Given the description of an element on the screen output the (x, y) to click on. 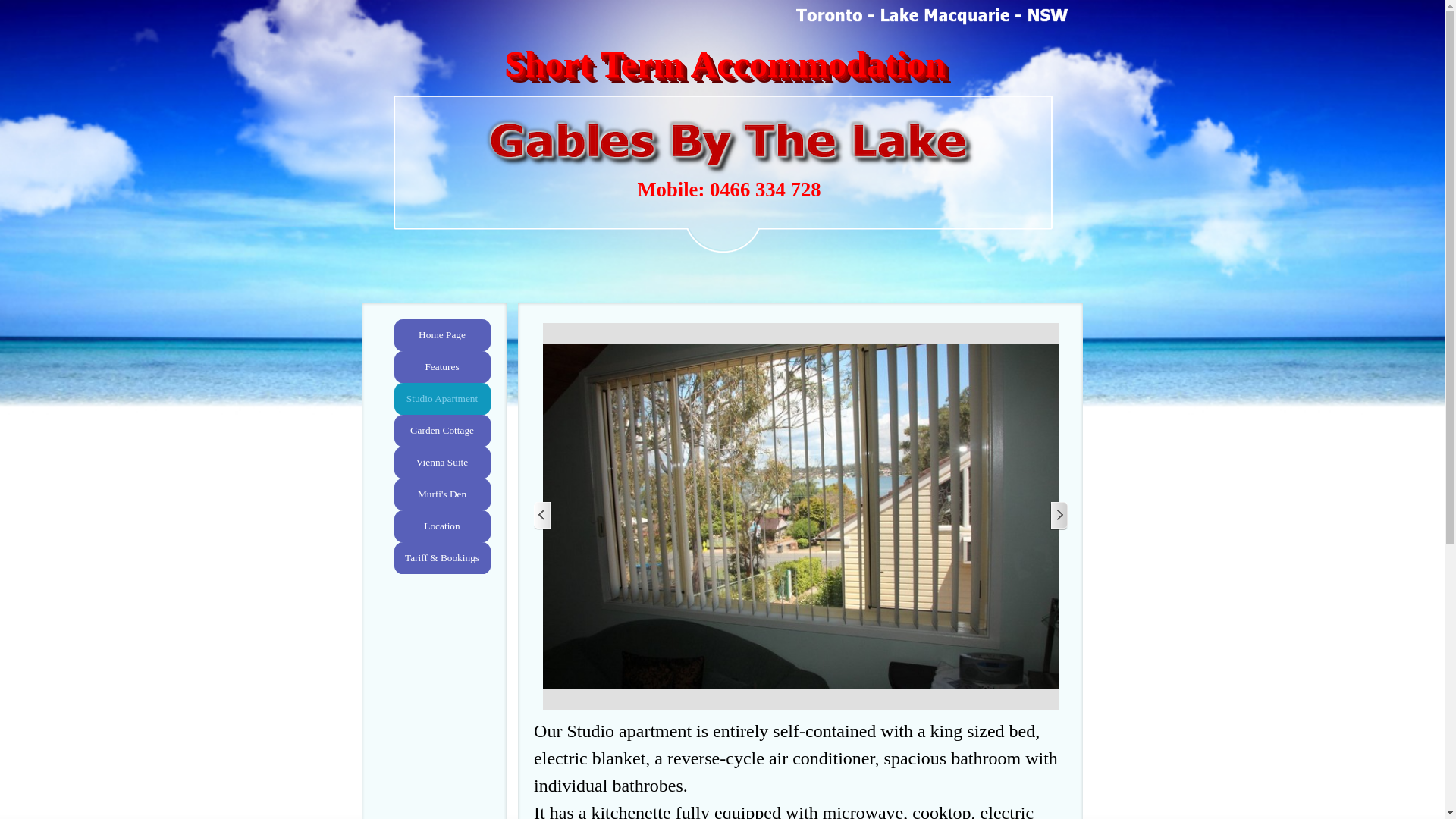
Murfi's Den Element type: text (441, 494)
Tariff & Bookings Element type: text (441, 558)
Home Page Element type: text (441, 335)
Vienna Suite Element type: text (441, 462)
Location Element type: text (441, 526)
Features Element type: text (441, 366)
Garden Cottage Element type: text (441, 430)
Studio Apartment Element type: text (441, 398)
